Given the description of an element on the screen output the (x, y) to click on. 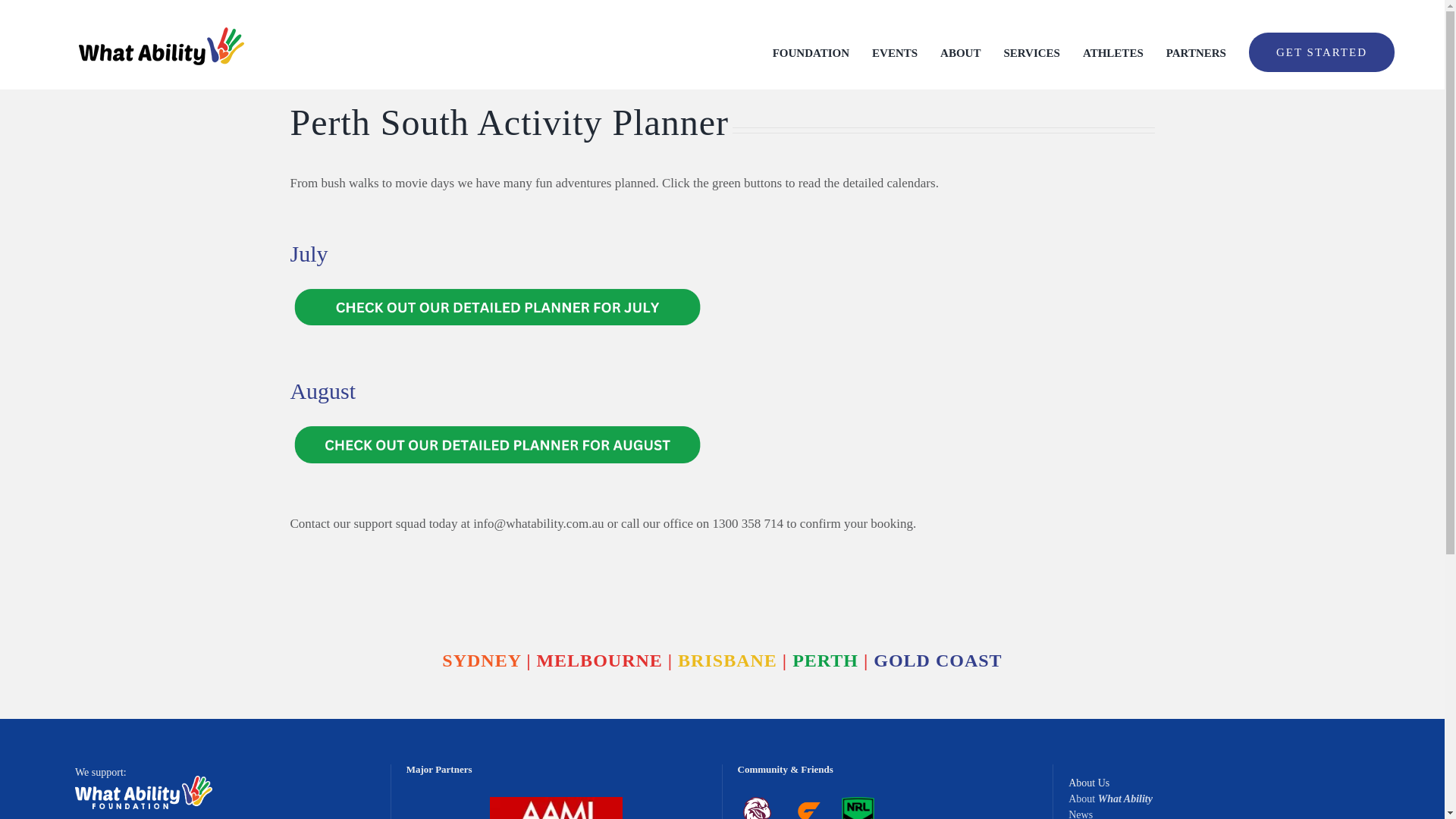
ATHLETES (1112, 53)
GET STARTED (1321, 53)
August (721, 429)
ABOUT (959, 53)
EVENTS (894, 53)
FOUNDATION (810, 53)
July (721, 292)
SERVICES (1031, 53)
PARTNERS (1195, 53)
